Given the description of an element on the screen output the (x, y) to click on. 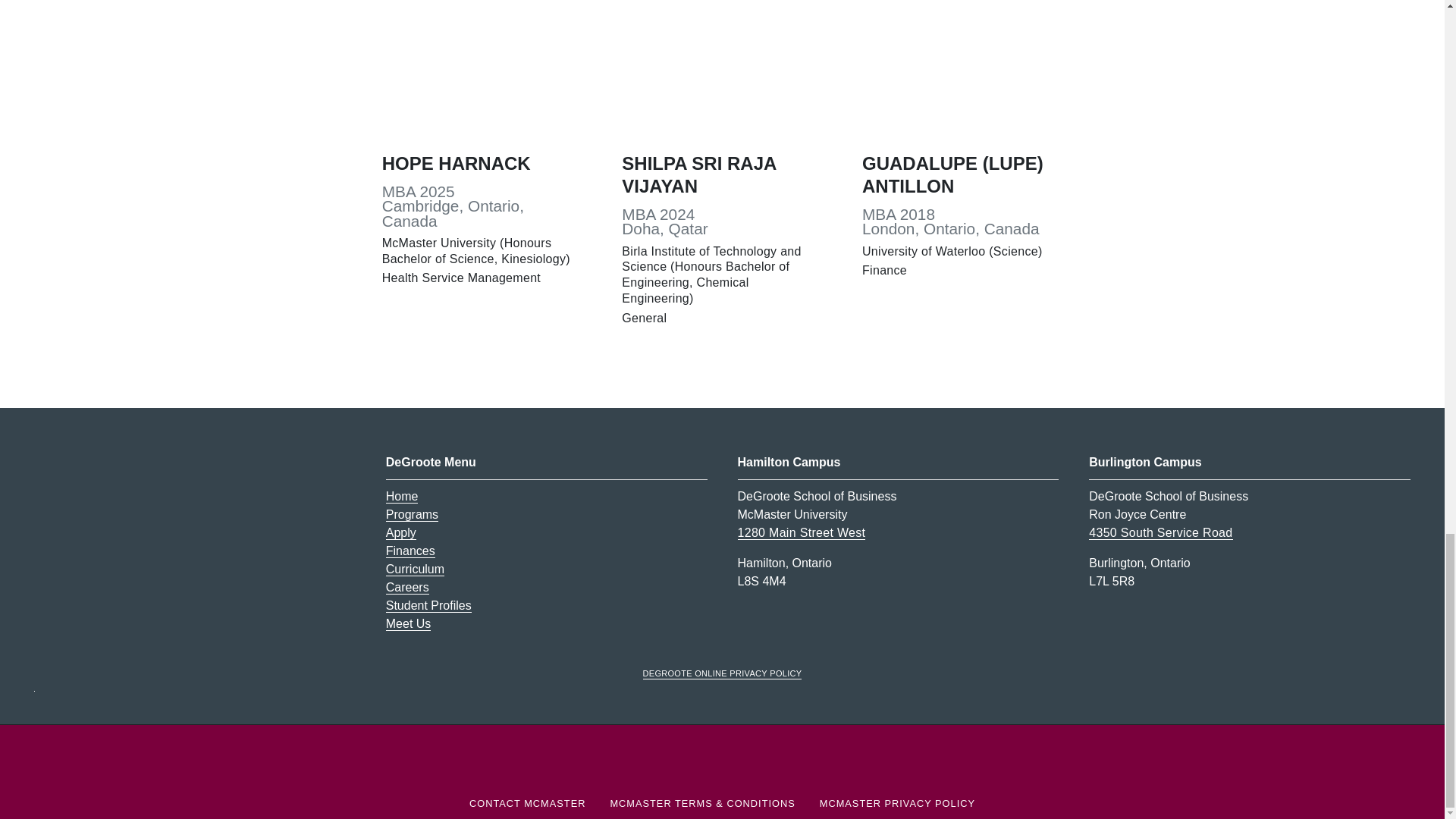
Google Map for the Ron Joyce Centre (1160, 532)
